Given the description of an element on the screen output the (x, y) to click on. 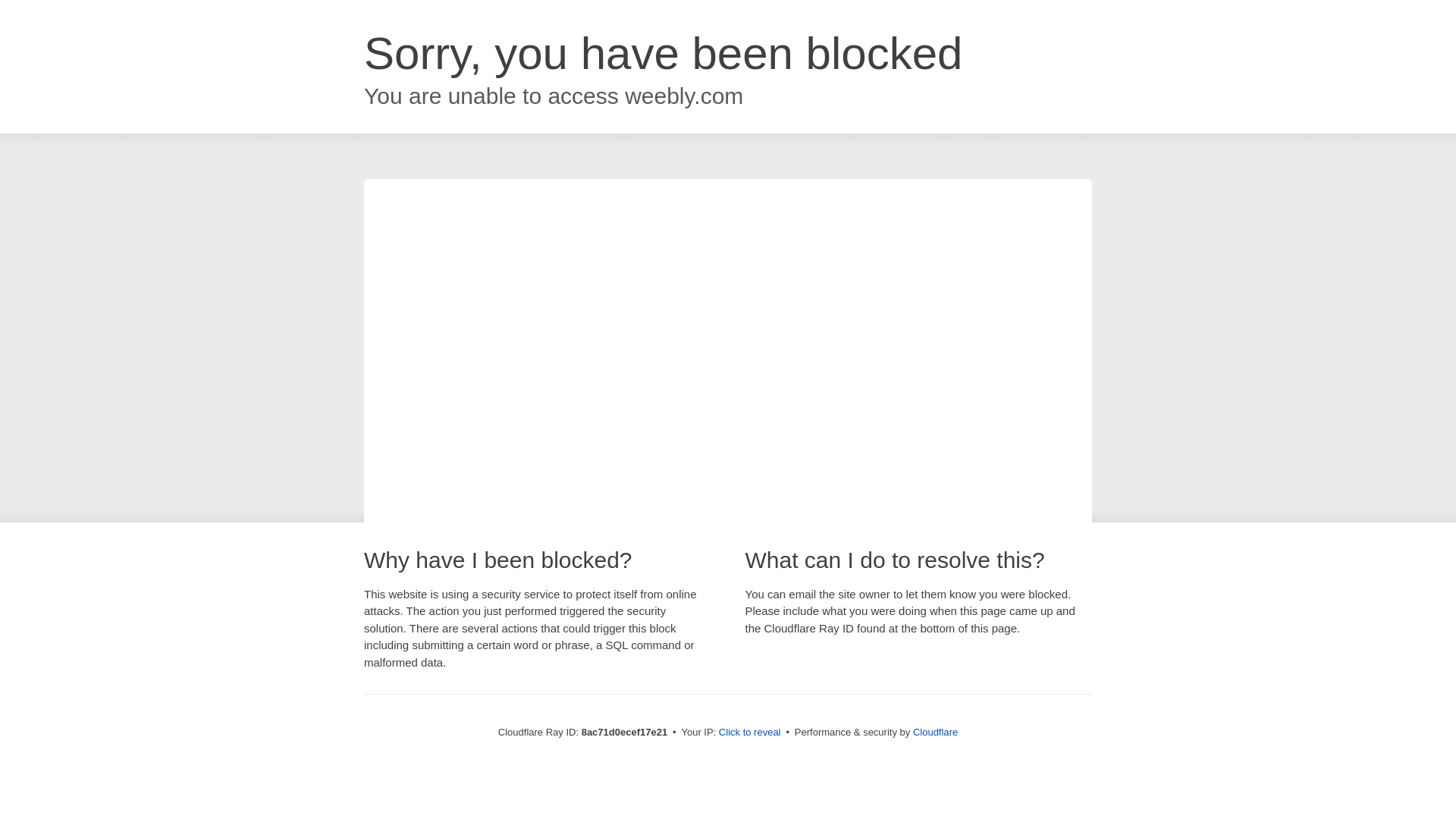
Cloudflare (935, 731)
Click to reveal (749, 732)
